Given the description of an element on the screen output the (x, y) to click on. 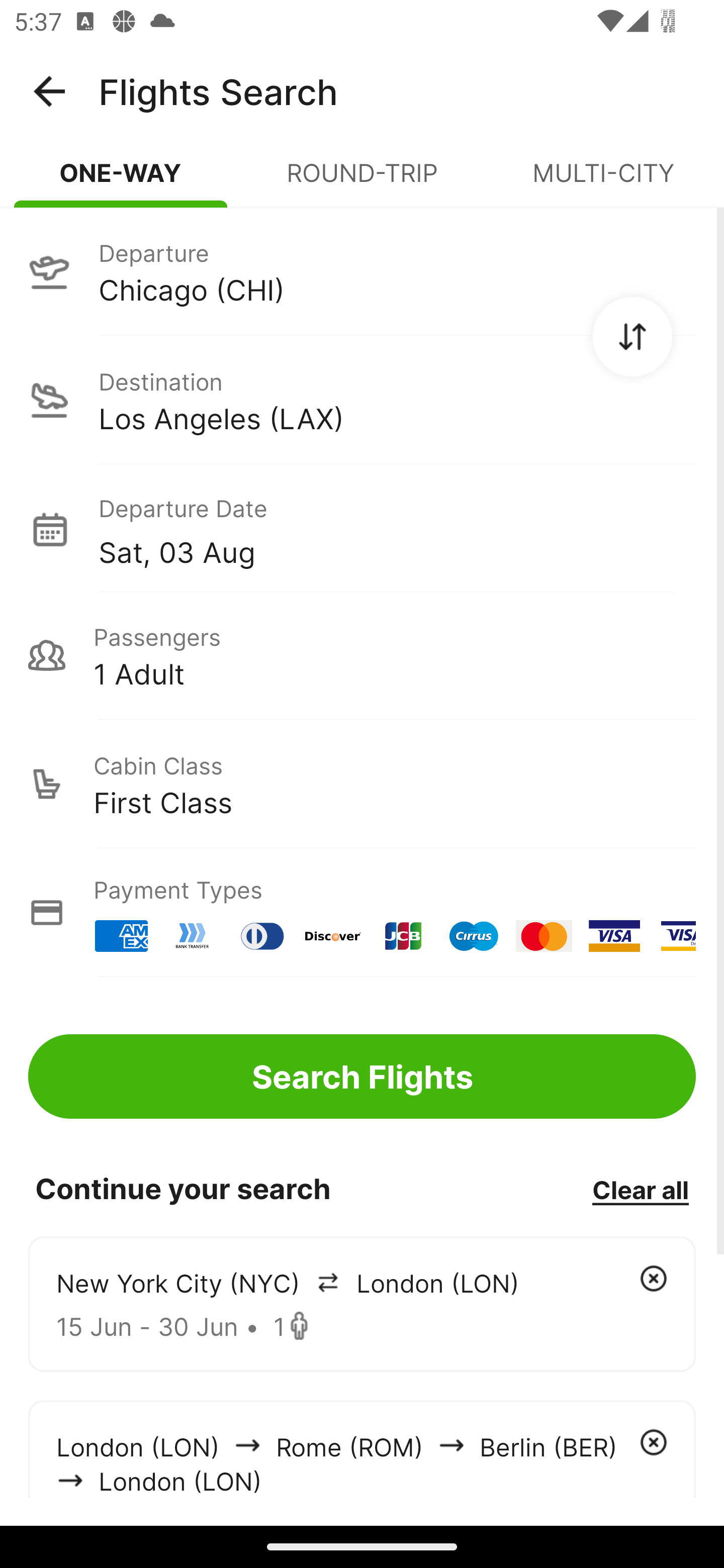
ONE-WAY (120, 180)
ROUND-TRIP (361, 180)
MULTI-CITY (603, 180)
Departure Chicago (CHI) (362, 270)
Destination Los Angeles (LAX) (362, 400)
Departure Date Sat, 03 Aug (396, 528)
Passengers 1 Adult (362, 655)
Cabin Class First Class (362, 783)
Payment Types (362, 912)
Search Flights (361, 1075)
Clear all (640, 1189)
